Given the description of an element on the screen output the (x, y) to click on. 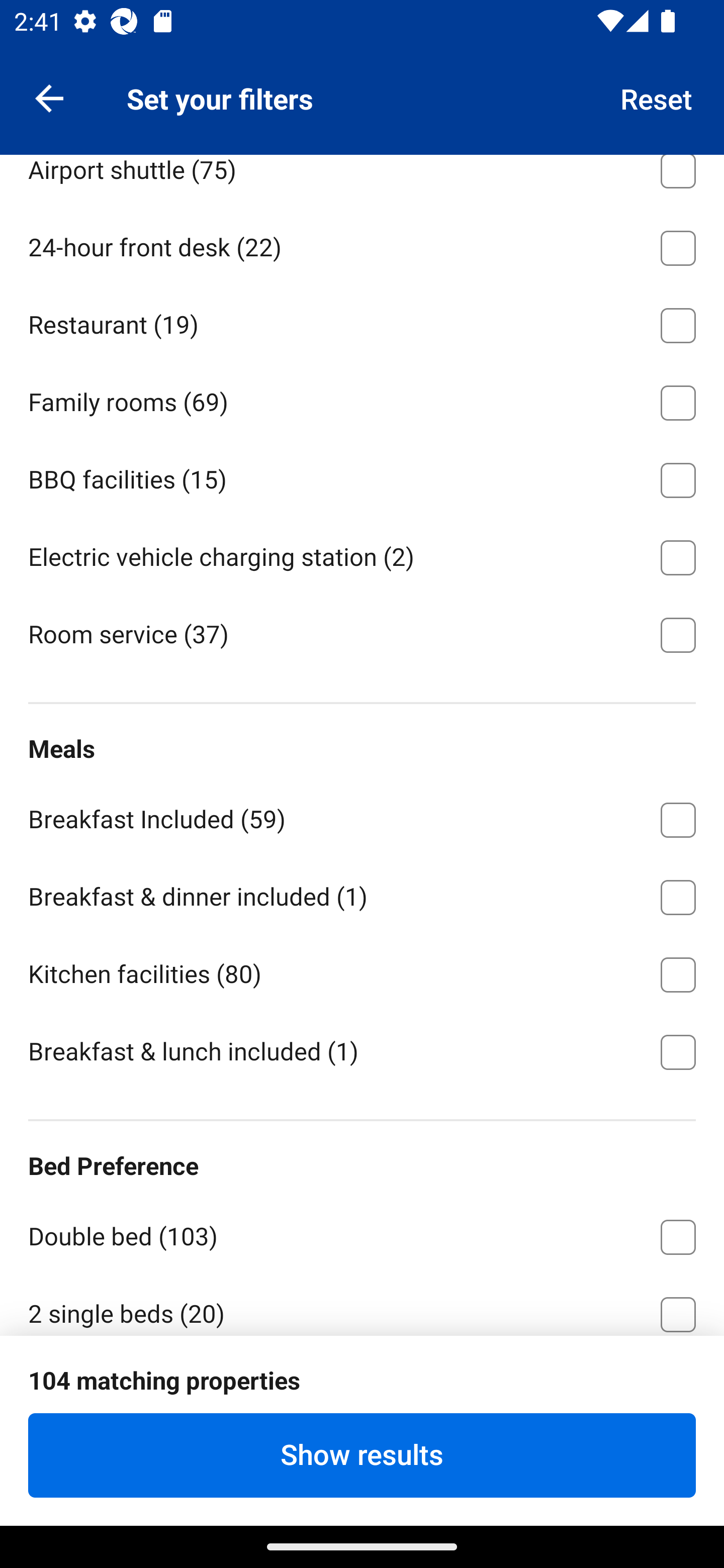
Navigate up (49, 97)
Airport shuttle (free) ⁦(4) (361, 89)
Reset (656, 97)
Airport shuttle ⁦(75) (361, 180)
24-hour front desk ⁦(22) (361, 244)
Restaurant ⁦(19) (361, 321)
Family rooms ⁦(69) (361, 398)
BBQ facilities ⁦(15) (361, 476)
Electric vehicle charging station ⁦(2) (361, 553)
Room service ⁦(37) (361, 633)
Breakfast Included ⁦(59) (361, 816)
Breakfast & dinner included ⁦(1) (361, 894)
Kitchen facilities ⁦(80) (361, 970)
Breakfast & lunch included ⁦(1) (361, 1050)
Double bed ⁦(103) (361, 1233)
2 single beds ⁦(20) (361, 1304)
Show results (361, 1454)
